Given the description of an element on the screen output the (x, y) to click on. 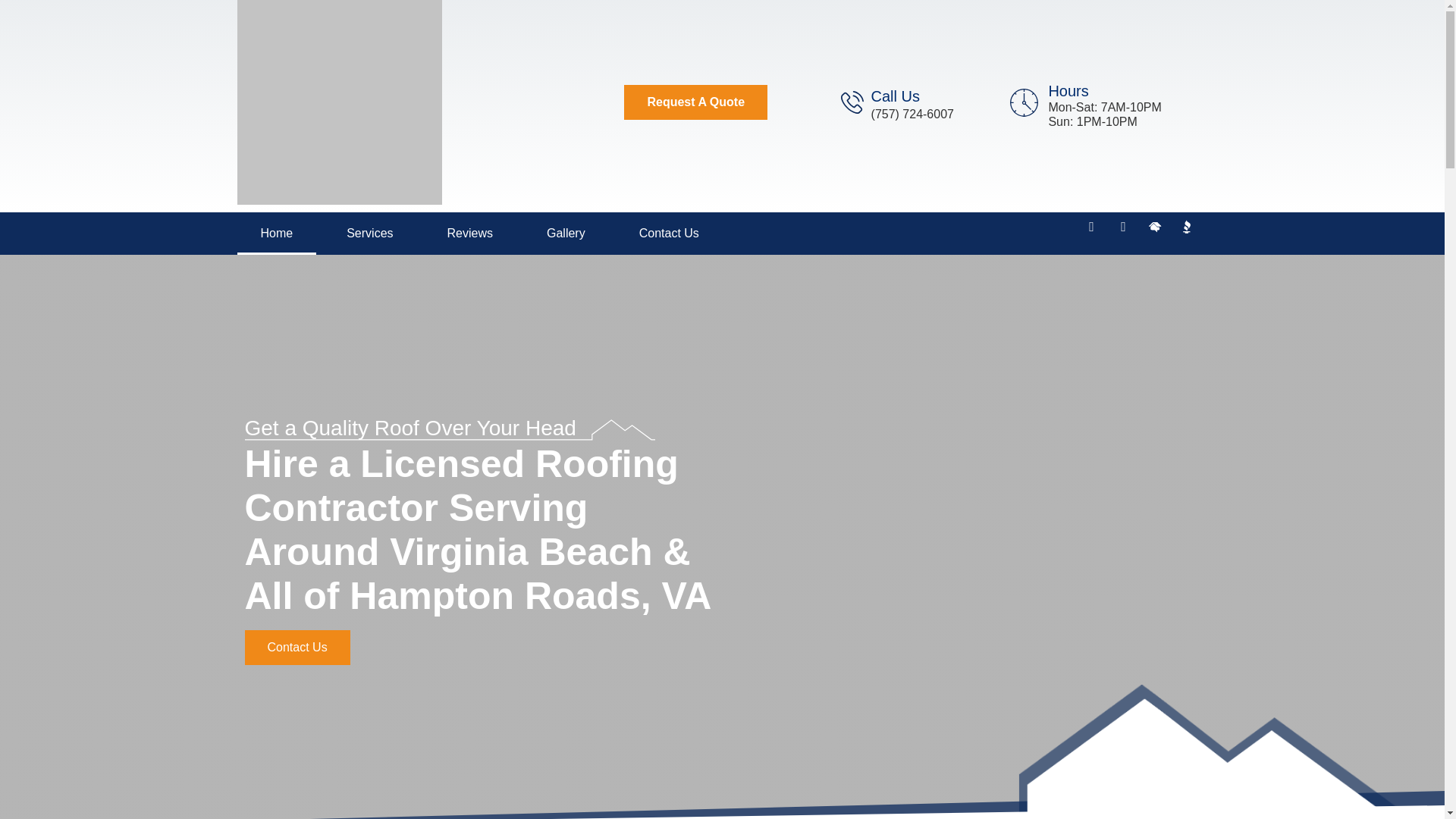
Gallery (565, 233)
Services (369, 233)
Reviews (469, 233)
Contact Us (296, 647)
Contact Us (668, 233)
Home (275, 233)
Request A Quote (695, 102)
